Given the description of an element on the screen output the (x, y) to click on. 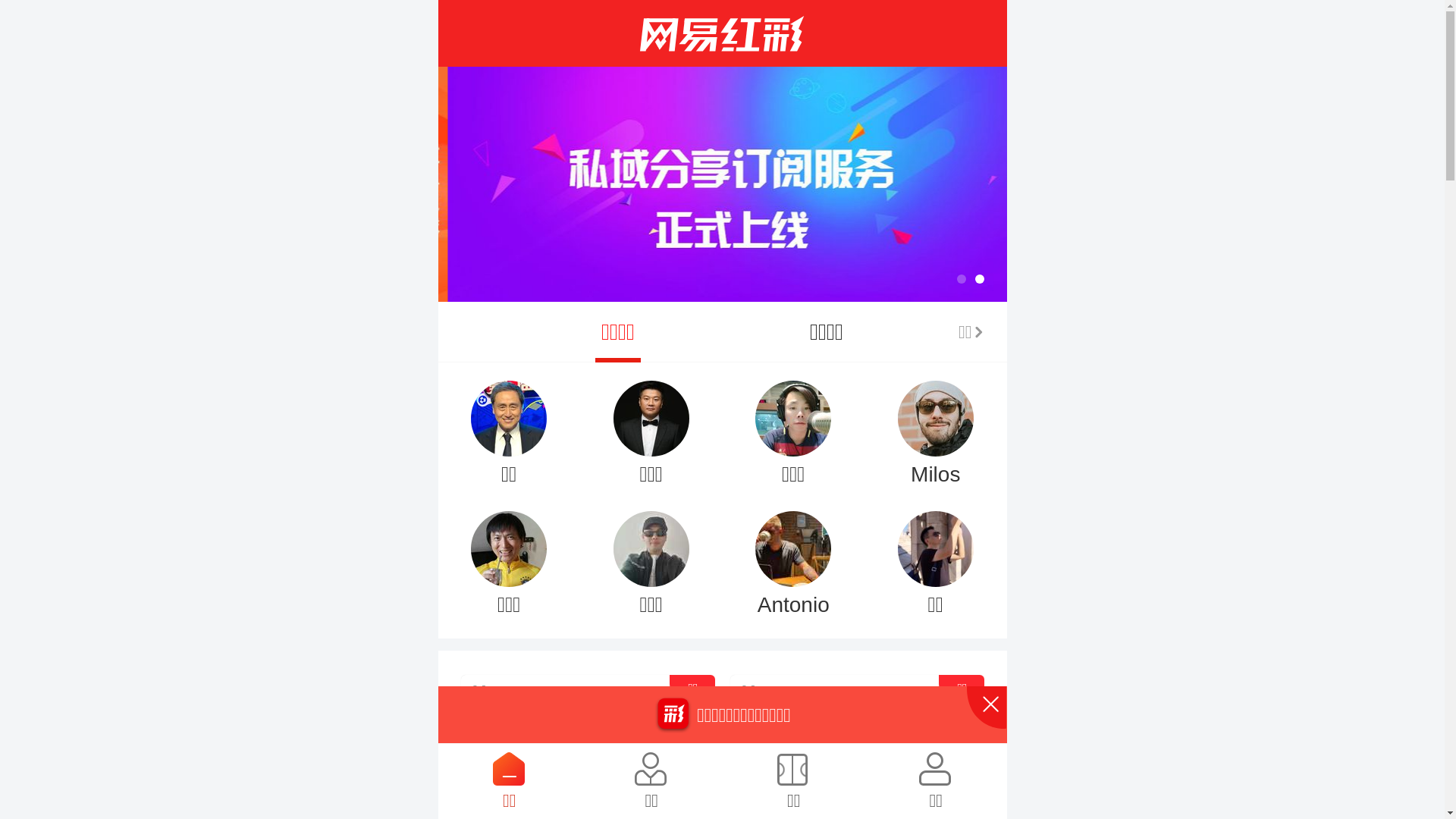
Antonio Element type: text (792, 557)
Milos Element type: text (935, 427)
